Given the description of an element on the screen output the (x, y) to click on. 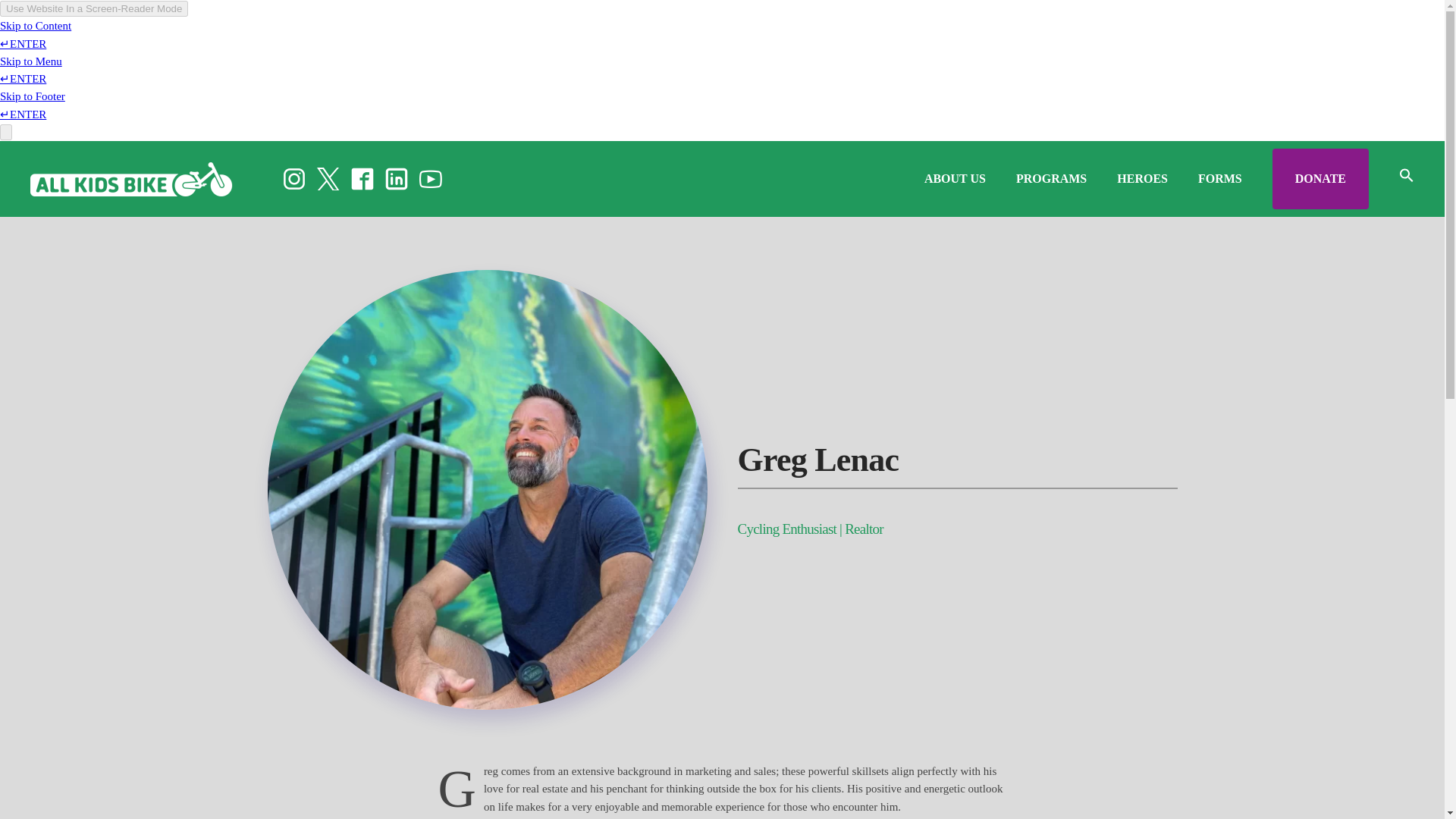
PROGRAMS (1051, 178)
ABOUT US (954, 178)
Greg Lenac (956, 464)
